Given the description of an element on the screen output the (x, y) to click on. 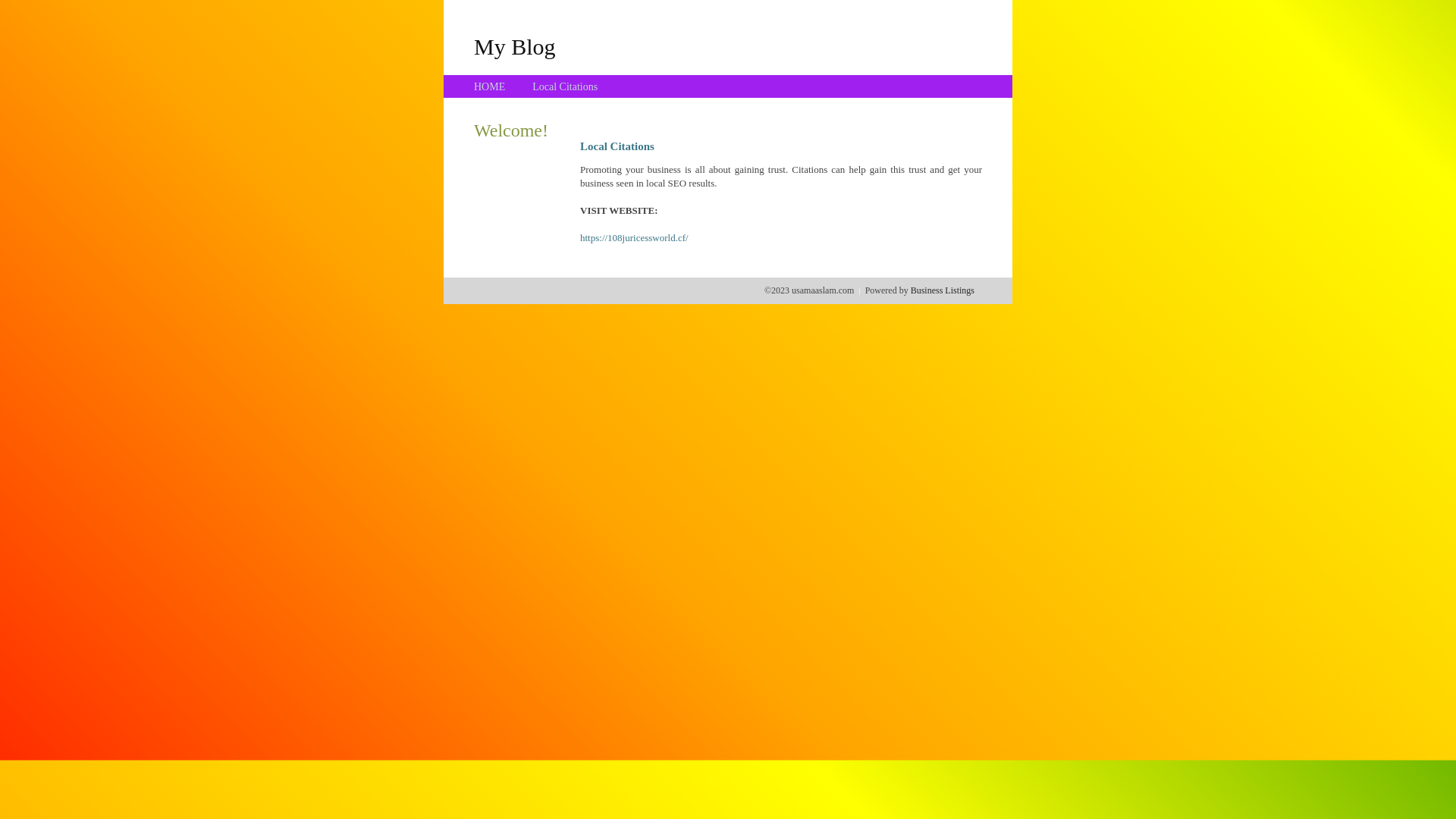
Business Listings Element type: text (942, 290)
https://108juricessworld.cf/ Element type: text (634, 237)
Local Citations Element type: text (564, 86)
My Blog Element type: text (514, 46)
HOME Element type: text (489, 86)
